Given the description of an element on the screen output the (x, y) to click on. 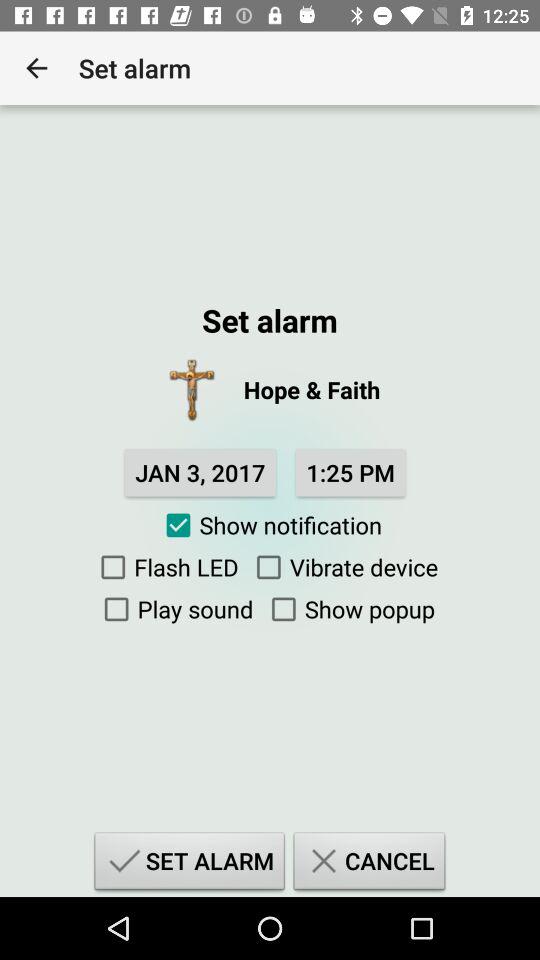
select item next to flash led item (342, 567)
